Given the description of an element on the screen output the (x, y) to click on. 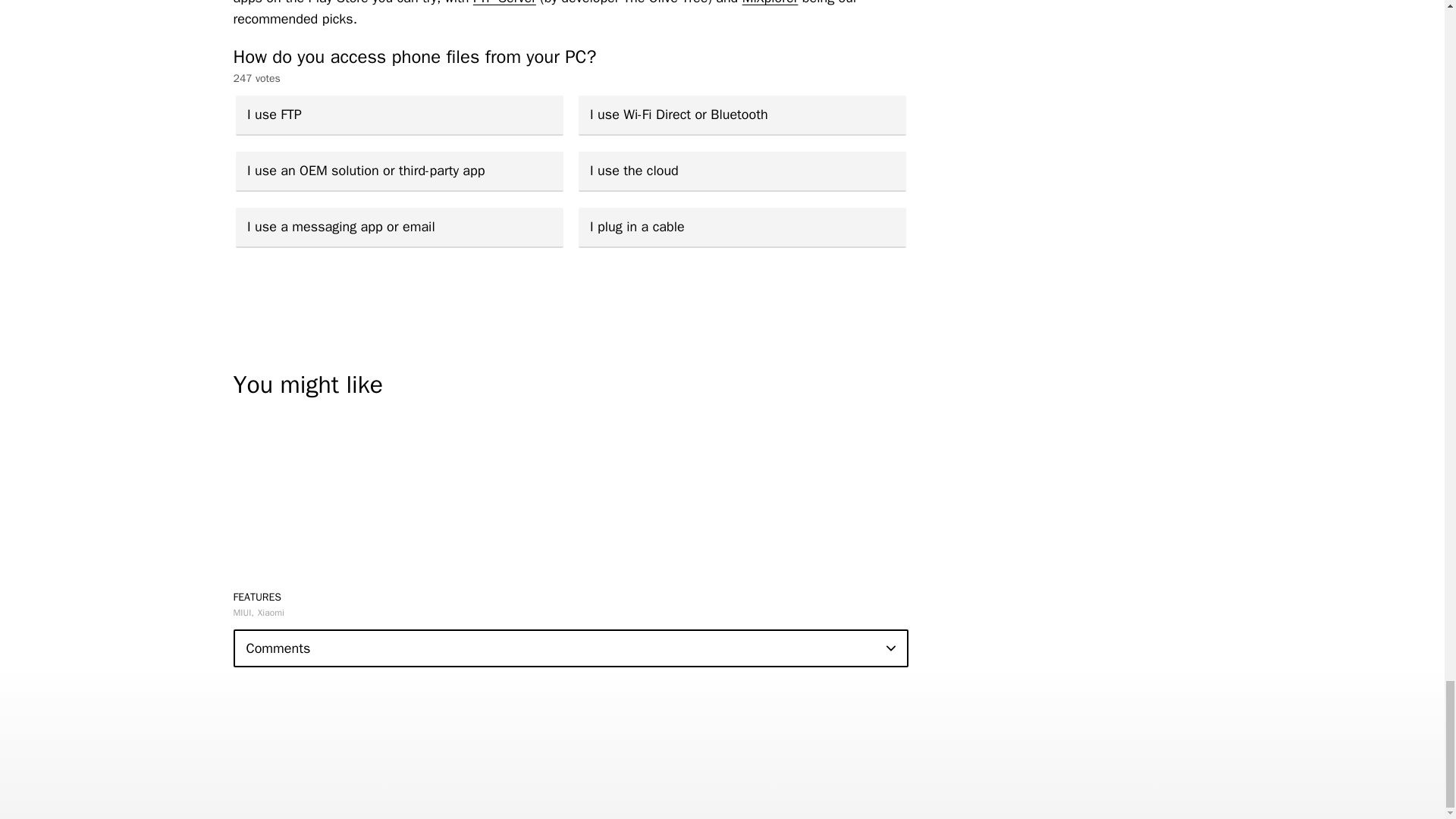
FEATURES (257, 596)
Comments (570, 648)
FTP Server (504, 2)
I use Wi-Fi Direct or Bluetooth (741, 115)
I use the cloud (741, 171)
Xiaomi (270, 612)
MiXplorer (769, 2)
I use a messaging app or email (398, 228)
I use an OEM solution or third-party app (398, 171)
I plug in a cable (741, 228)
I use FTP (398, 115)
MIUI (242, 612)
